Given the description of an element on the screen output the (x, y) to click on. 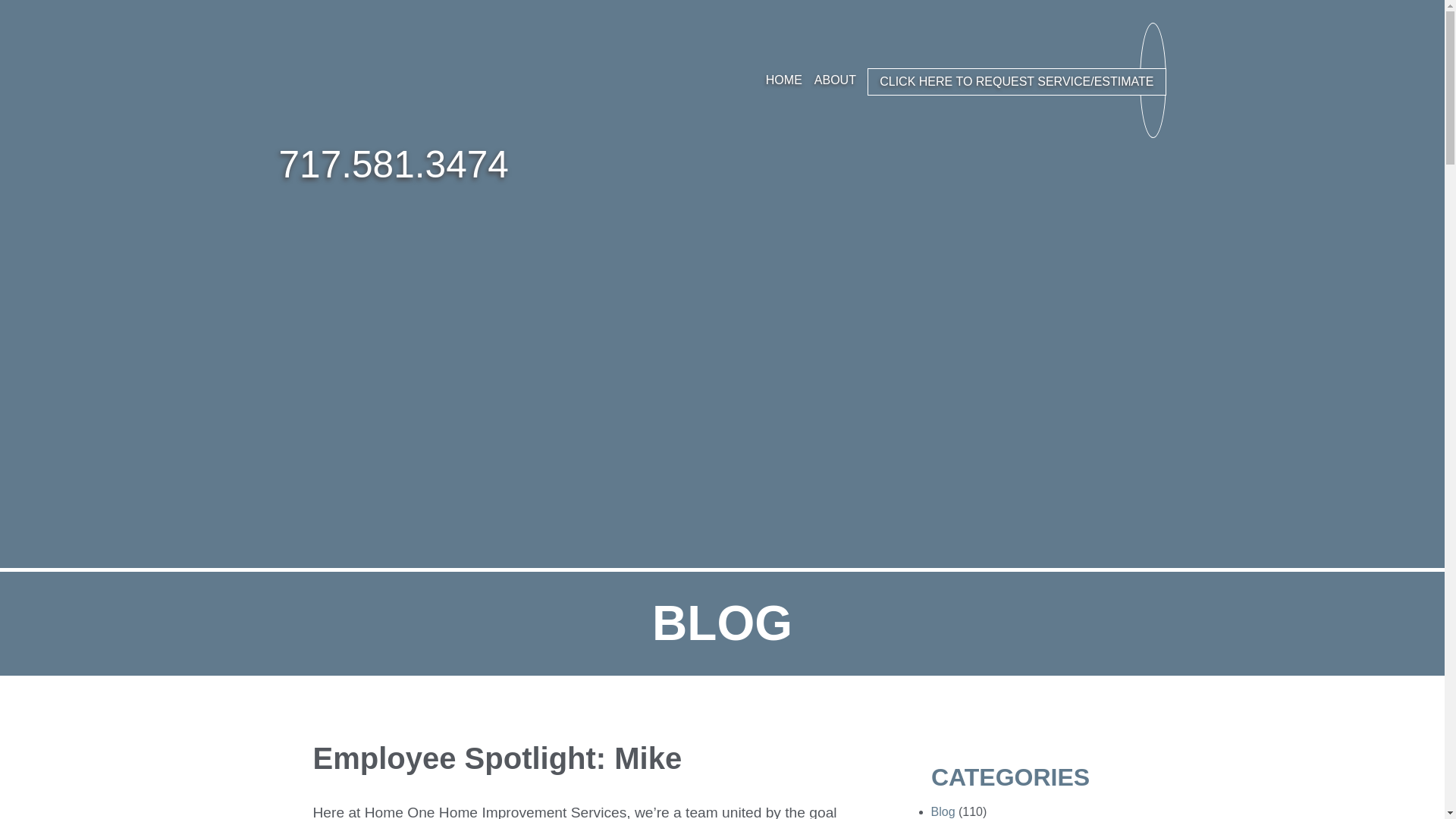
717.581.3474 (393, 164)
SERVICES (898, 80)
Blog (943, 811)
PROJECTS (973, 80)
CONTACT (1092, 80)
HOME (784, 80)
ABOUT (834, 80)
BLOG (1034, 80)
